Given the description of an element on the screen output the (x, y) to click on. 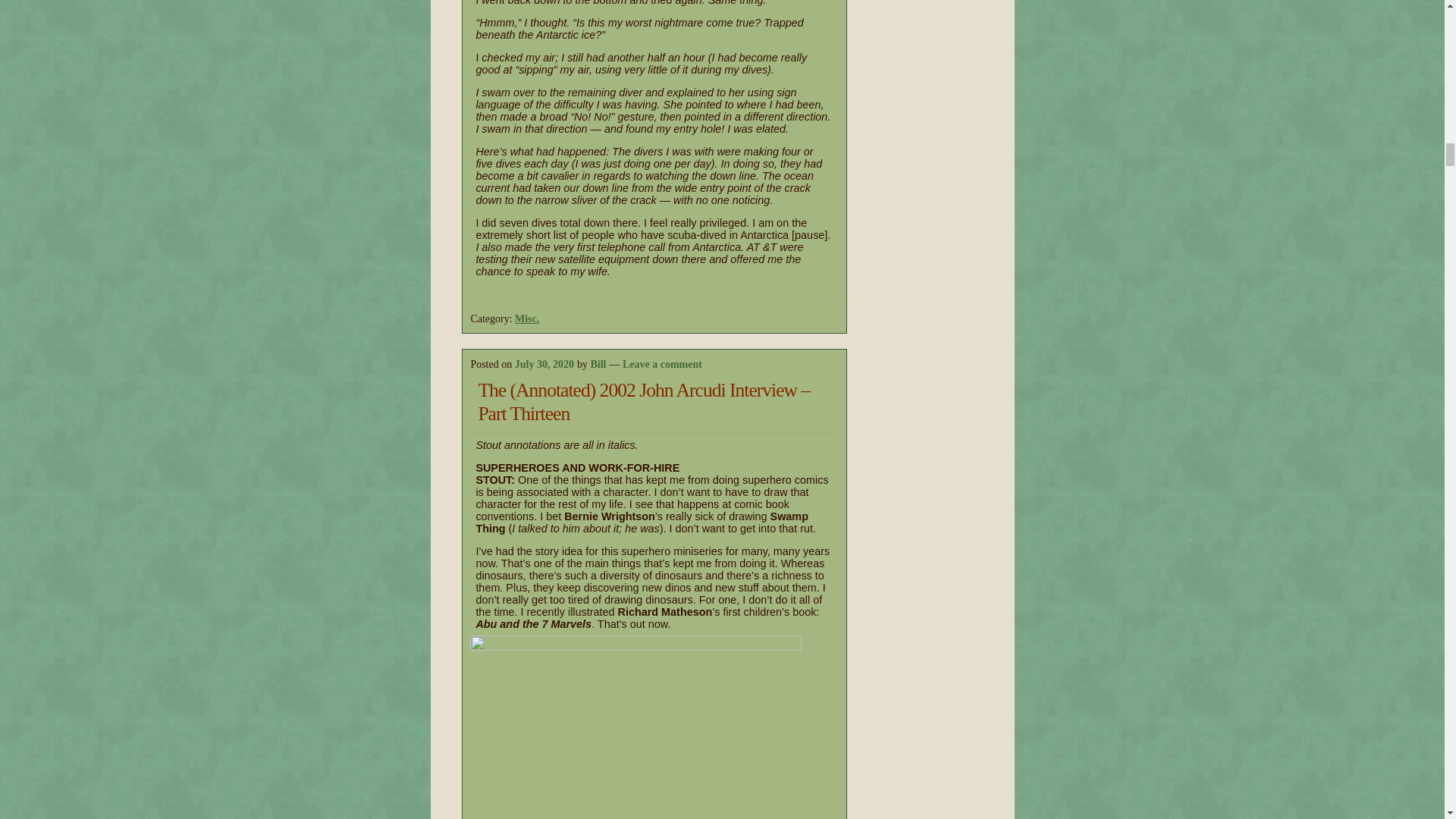
Misc. (526, 318)
Bill (597, 364)
Leave a comment (662, 364)
July 30, 2020 (544, 364)
